Given the description of an element on the screen output the (x, y) to click on. 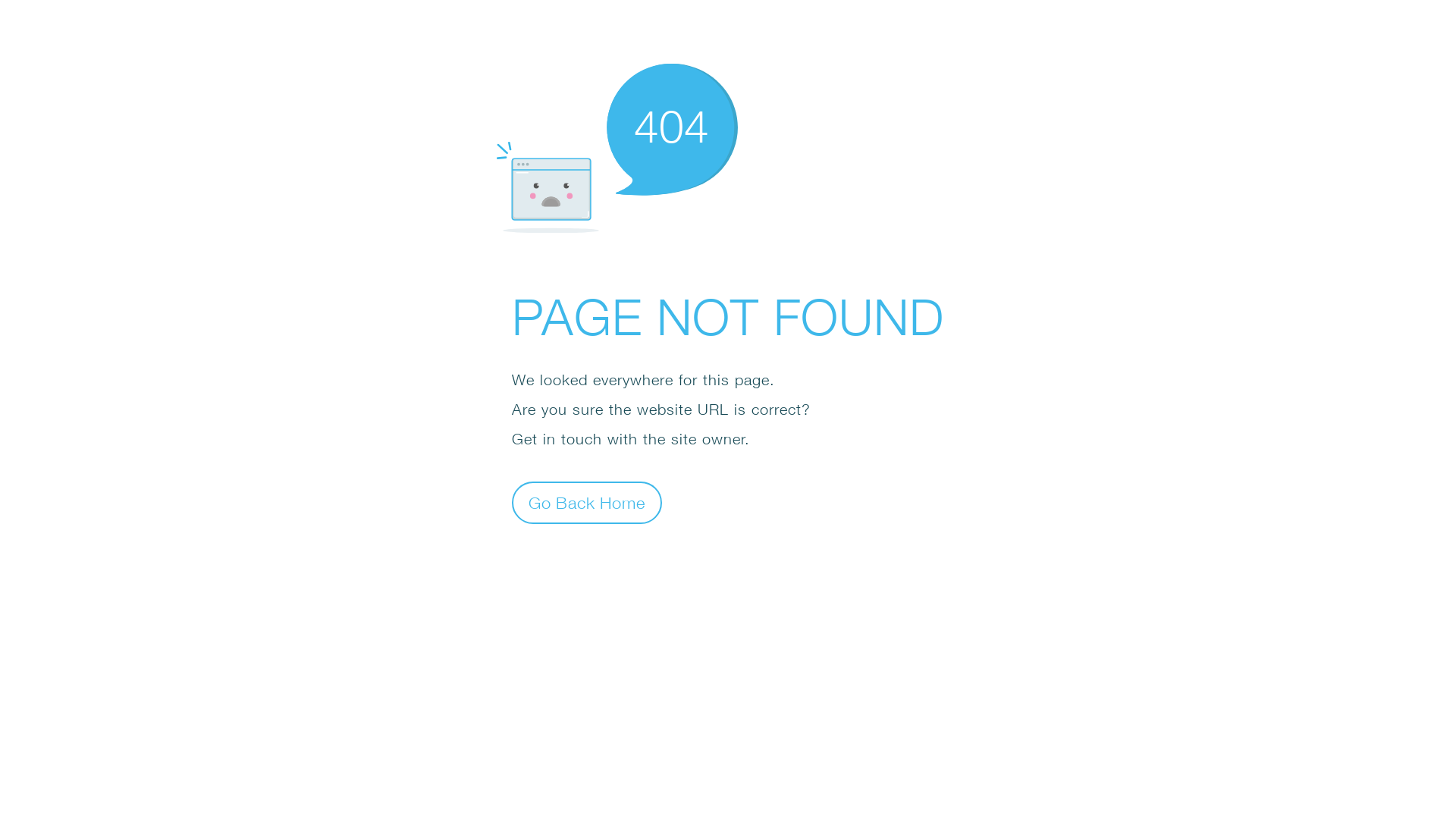
Go Back Home Element type: text (586, 502)
